Given the description of an element on the screen output the (x, y) to click on. 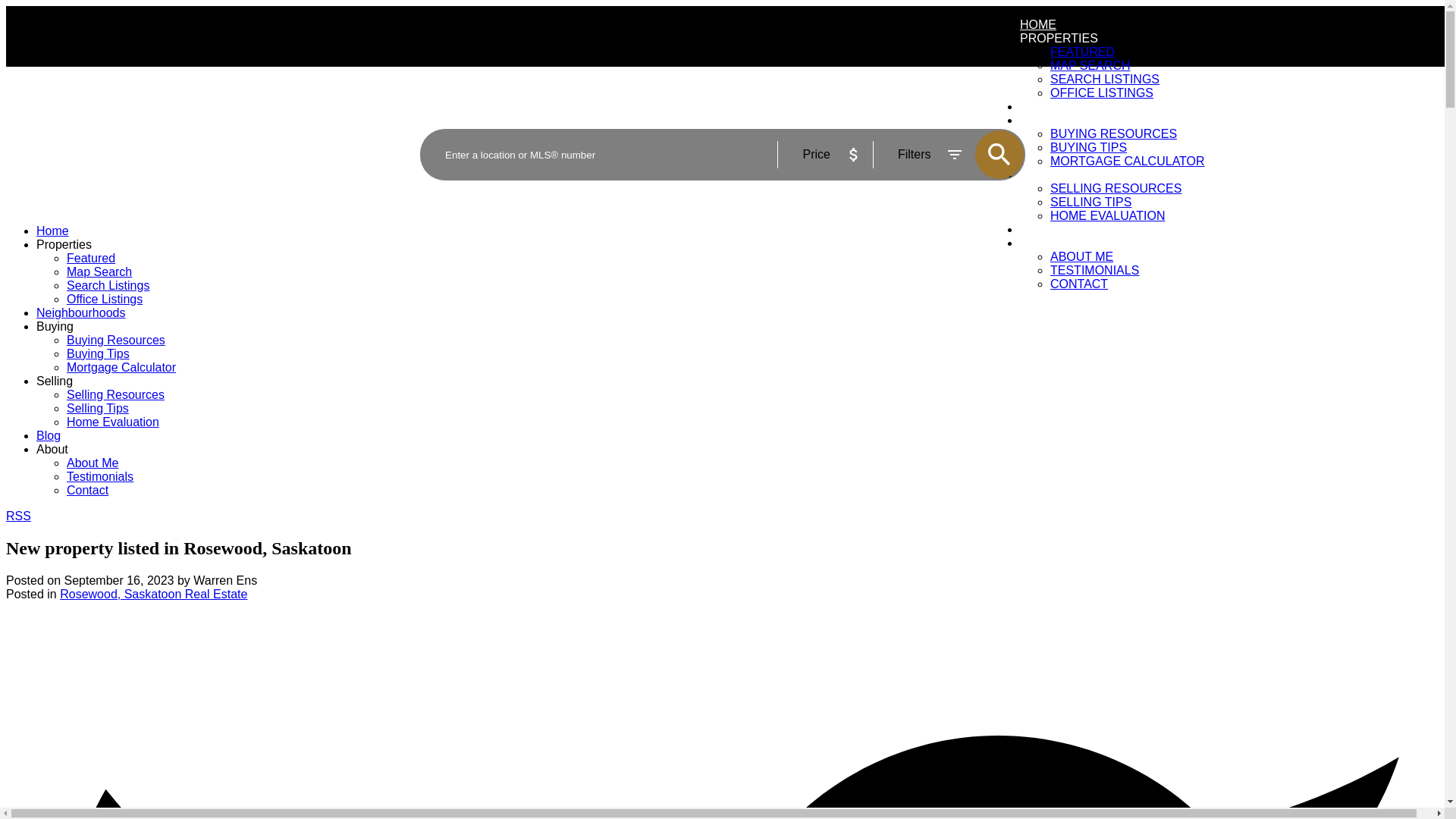
SELLING TIPS (1090, 201)
HOME (1038, 25)
Mortgage Calculator (121, 367)
BUYING RESOURCES (1112, 133)
TESTIMONIALS (1093, 269)
Buying Resources (115, 339)
MAP SEARCH (1090, 65)
Featured (90, 257)
BLOG (1036, 230)
Buying Tips (97, 353)
Selling Tips (97, 408)
BUYING TIPS (1087, 146)
MORTGAGE CALCULATOR (1127, 160)
FEATURED (1082, 51)
Selling Resources (115, 394)
